Given the description of an element on the screen output the (x, y) to click on. 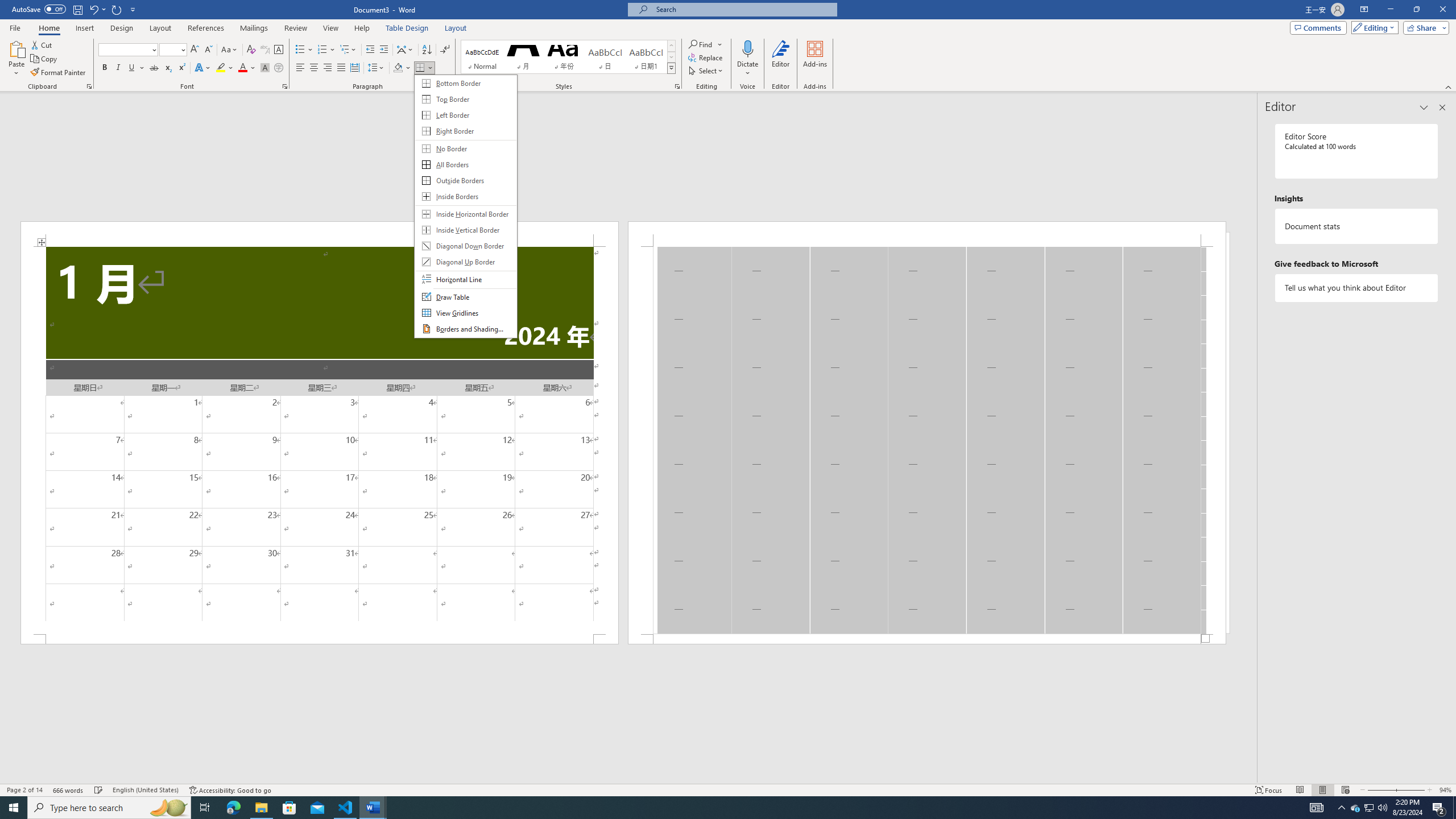
Document statistics (1356, 226)
